Given the description of an element on the screen output the (x, y) to click on. 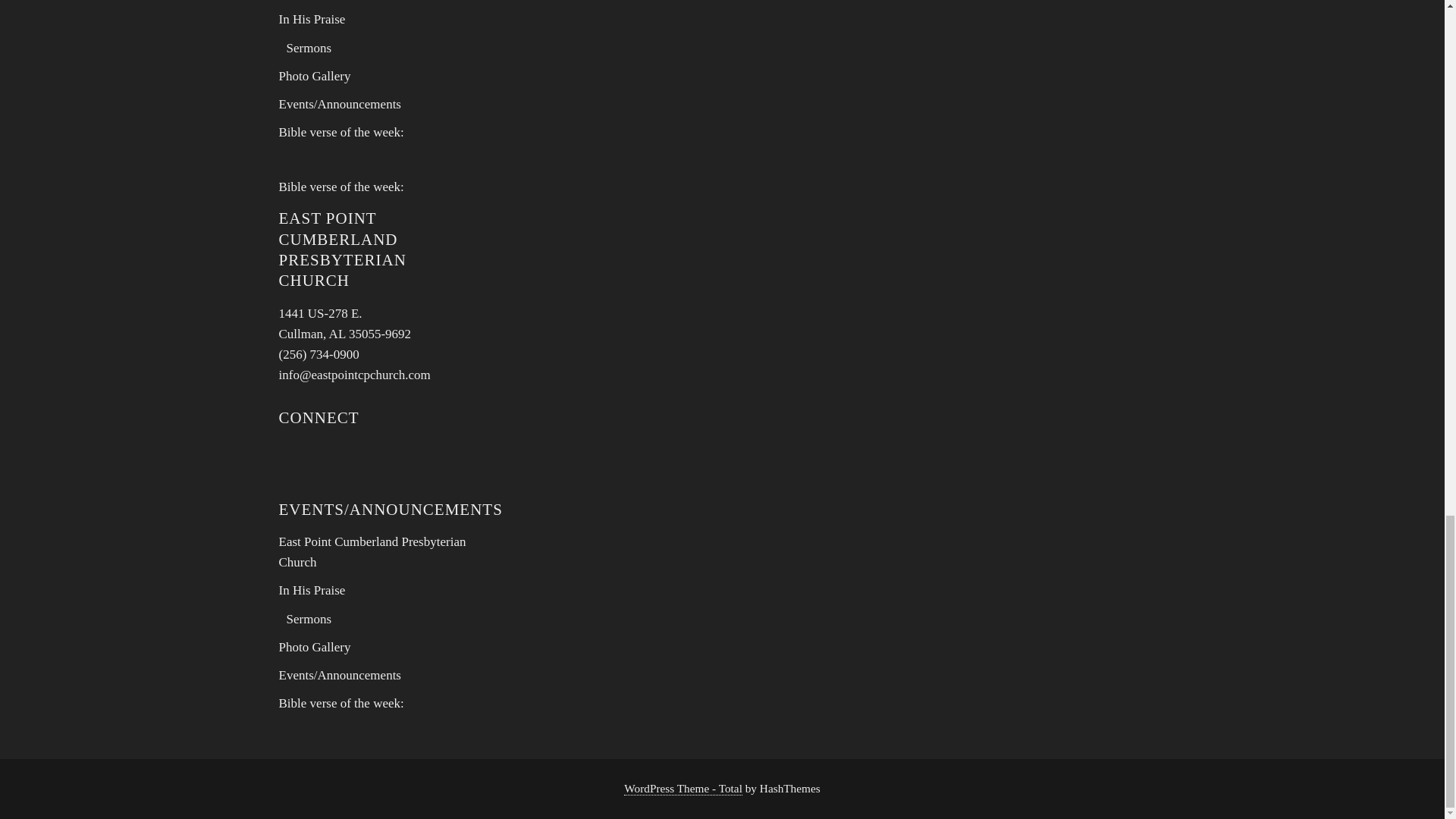
East Point Cumberland Presbyterian Church (372, 551)
Email (297, 458)
In His Praise (312, 19)
Facebook (336, 458)
Sermons (345, 323)
Photo Gallery (308, 47)
Bible verse of the week: (314, 75)
